Given the description of an element on the screen output the (x, y) to click on. 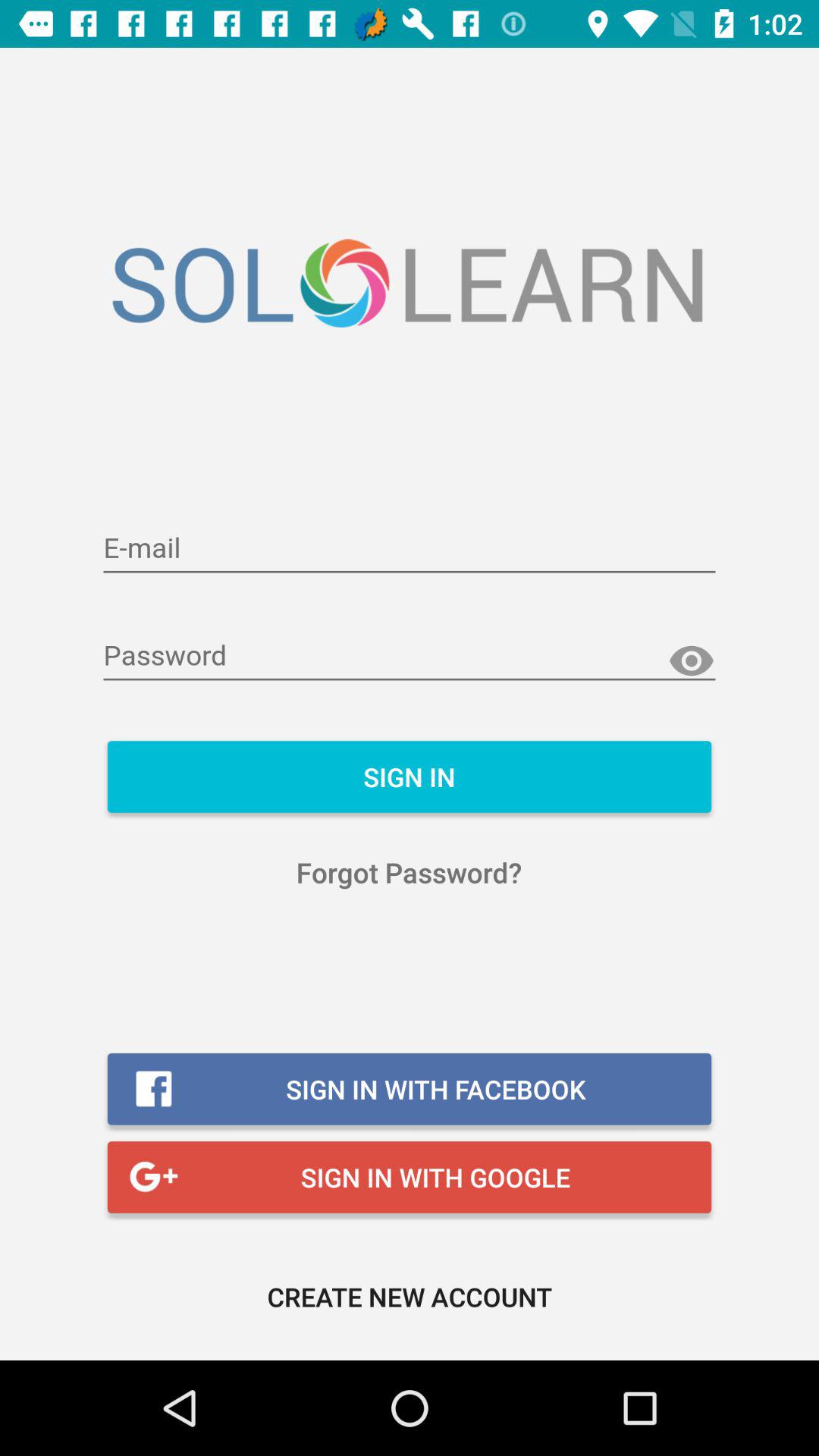
launch item above sign in with (409, 872)
